Given the description of an element on the screen output the (x, y) to click on. 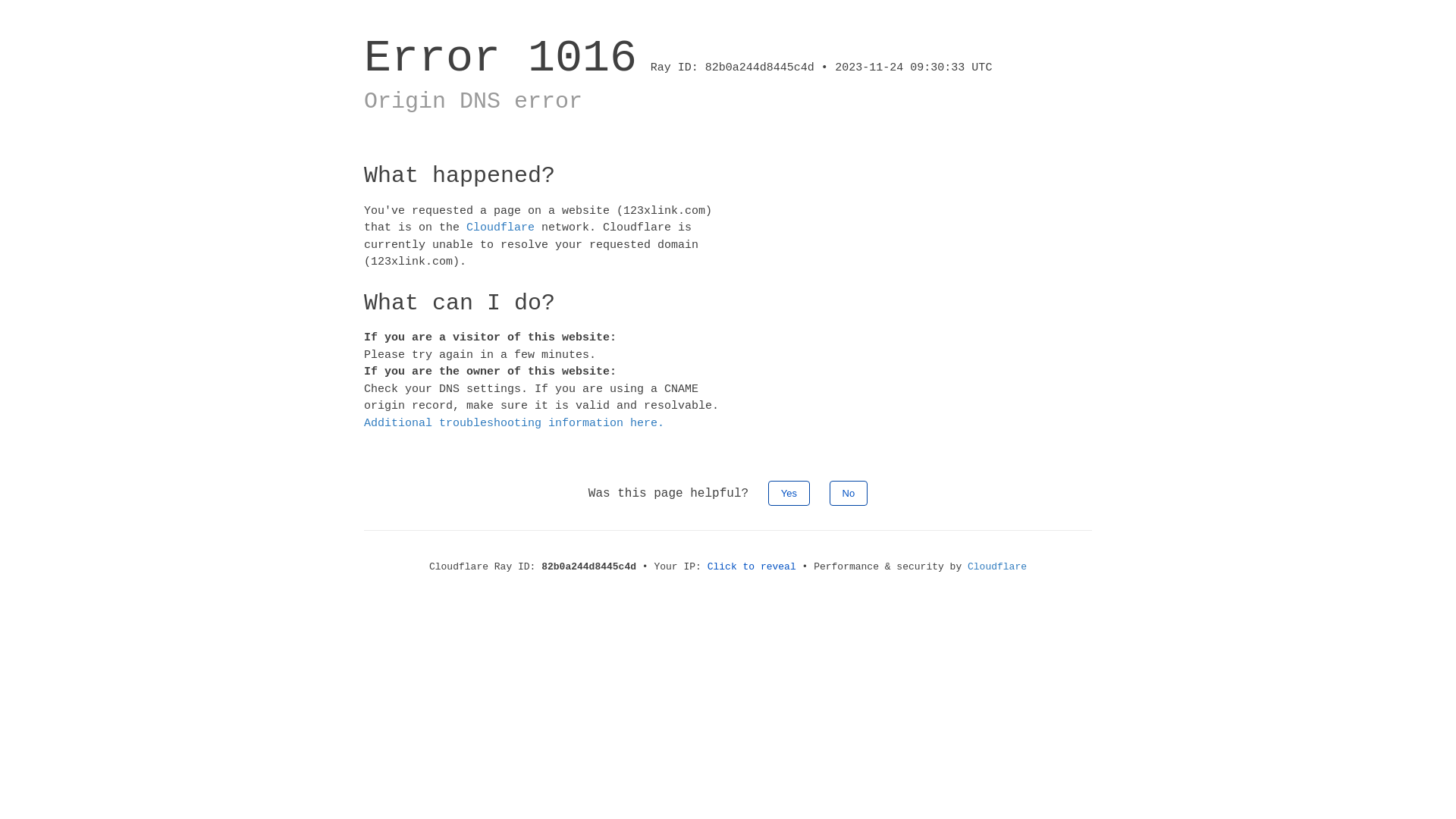
Click to reveal Element type: text (751, 566)
Additional troubleshooting information here. Element type: text (514, 423)
Cloudflare Element type: text (500, 227)
Yes Element type: text (788, 492)
No Element type: text (848, 492)
Cloudflare Element type: text (996, 566)
